Given the description of an element on the screen output the (x, y) to click on. 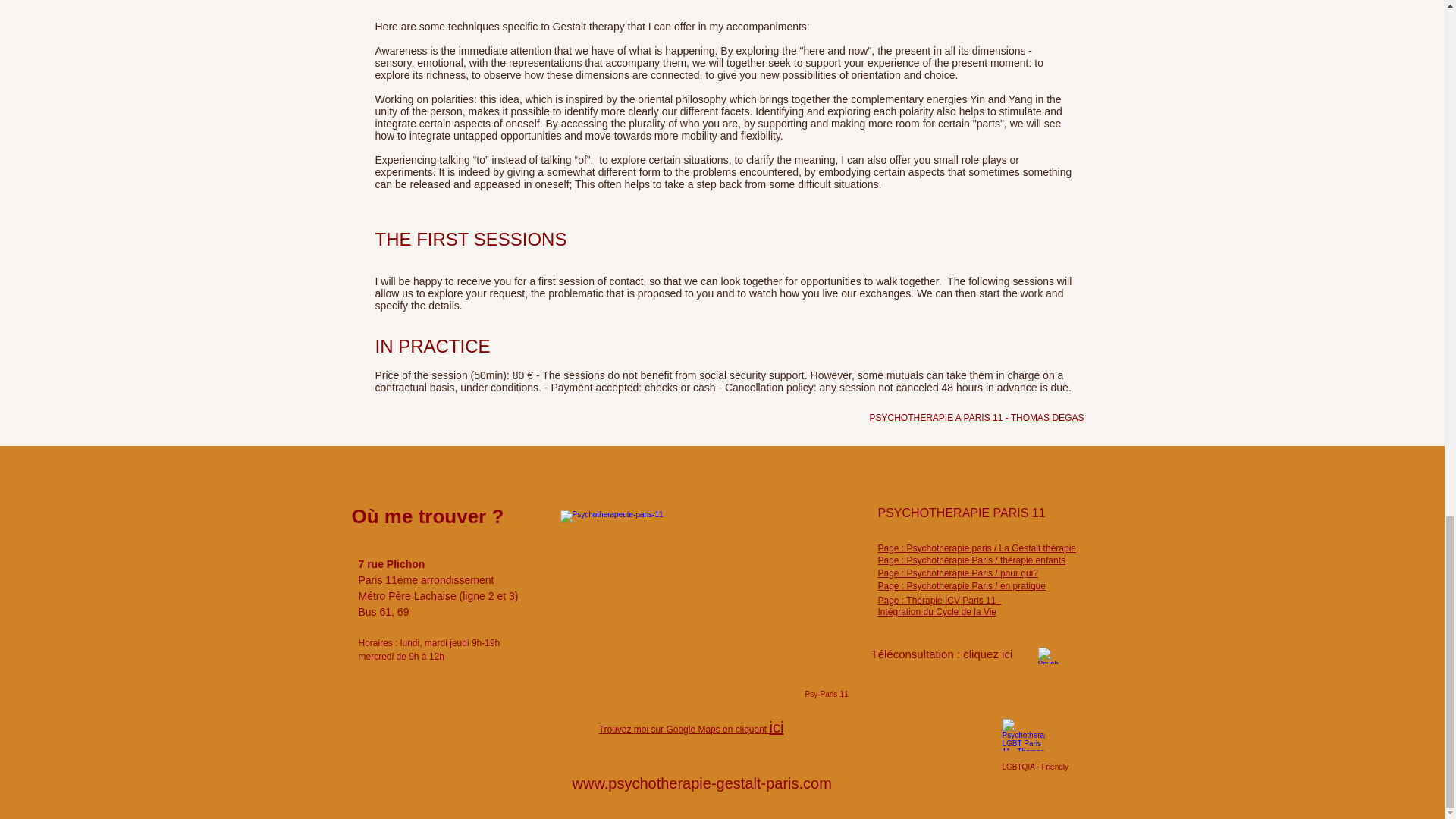
Psychotherapeute paris 11 (705, 594)
Thoms Degas psyhothrapie paris (1046, 655)
Trouvez moi sur Google Maps en cliquant ici (691, 728)
Psy-Paris-11 (826, 694)
Psy LGBTQIA (1024, 735)
PSYCHOTHERAPIE A PARIS 11 - THOMAS DEGAS (976, 417)
